Given the description of an element on the screen output the (x, y) to click on. 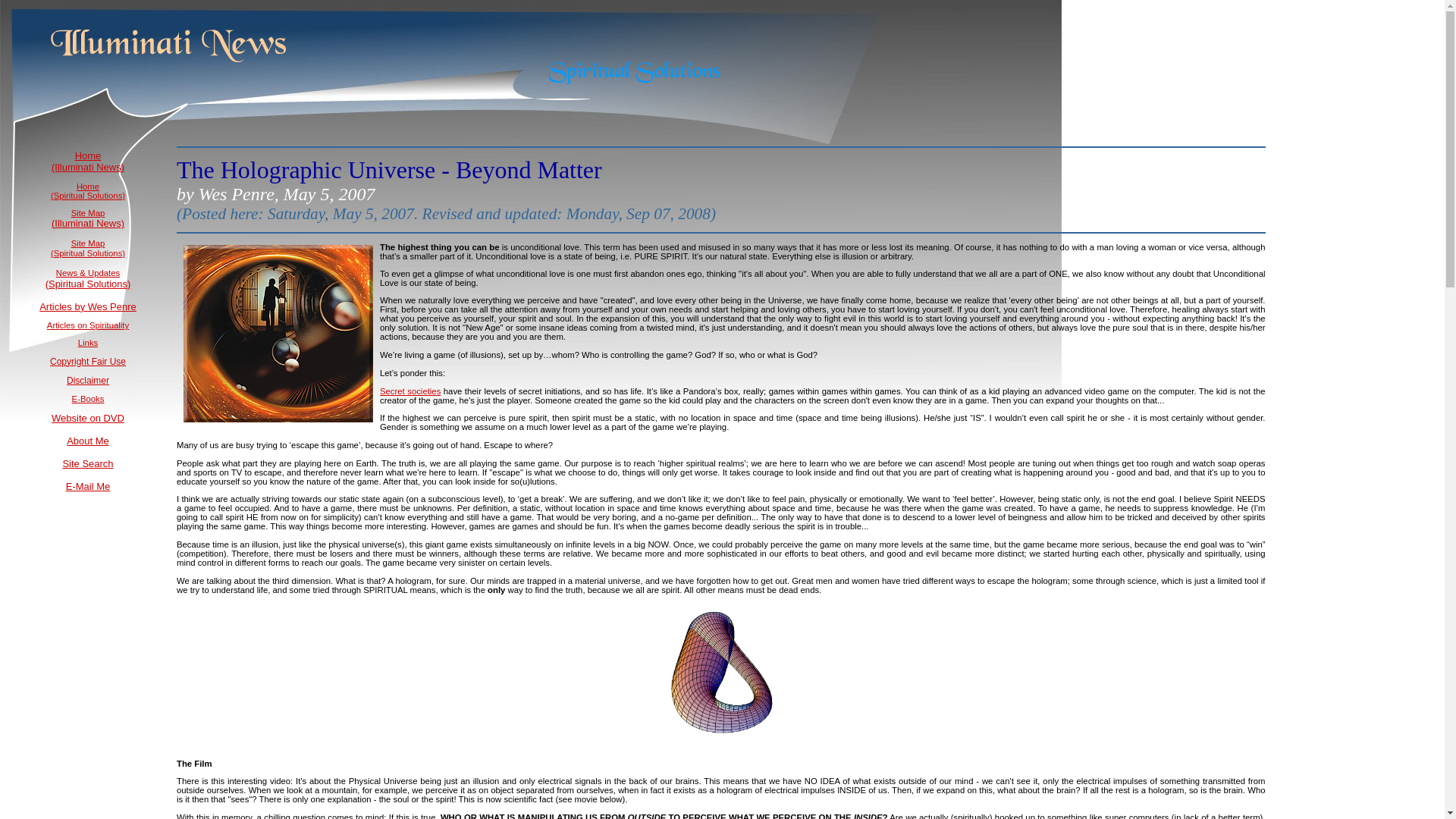
About Me (87, 440)
Site Search (87, 463)
E-Mail Me (87, 486)
E-Books (87, 398)
Articles on Spirituality (87, 325)
Links (87, 342)
Disclaimer (87, 380)
Copyright Fair Use (87, 361)
Articles by Wes Penre (87, 306)
Website on DVD (86, 418)
Secret societies (410, 390)
